Given the description of an element on the screen output the (x, y) to click on. 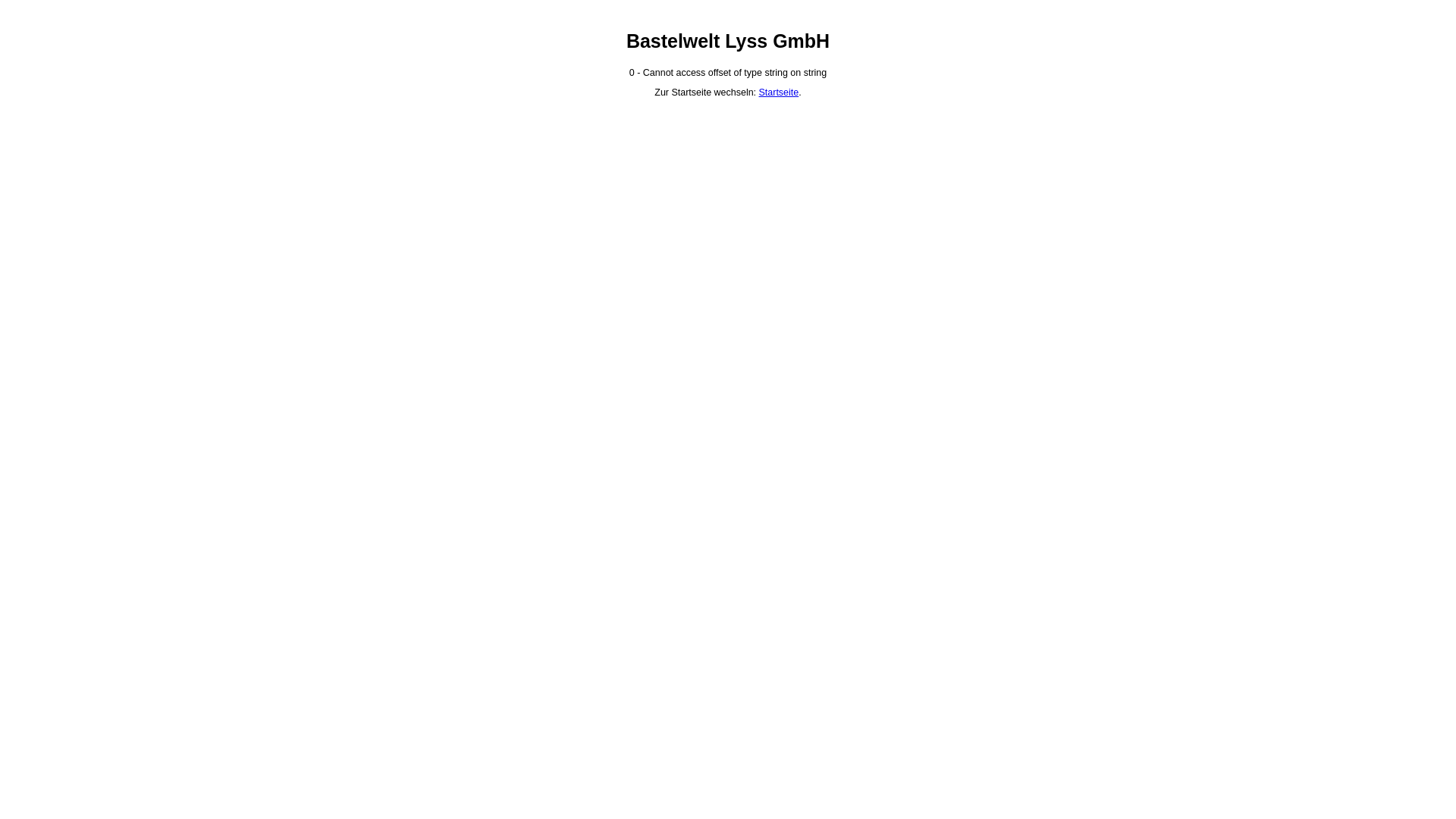
Startseite Element type: text (779, 92)
